Given the description of an element on the screen output the (x, y) to click on. 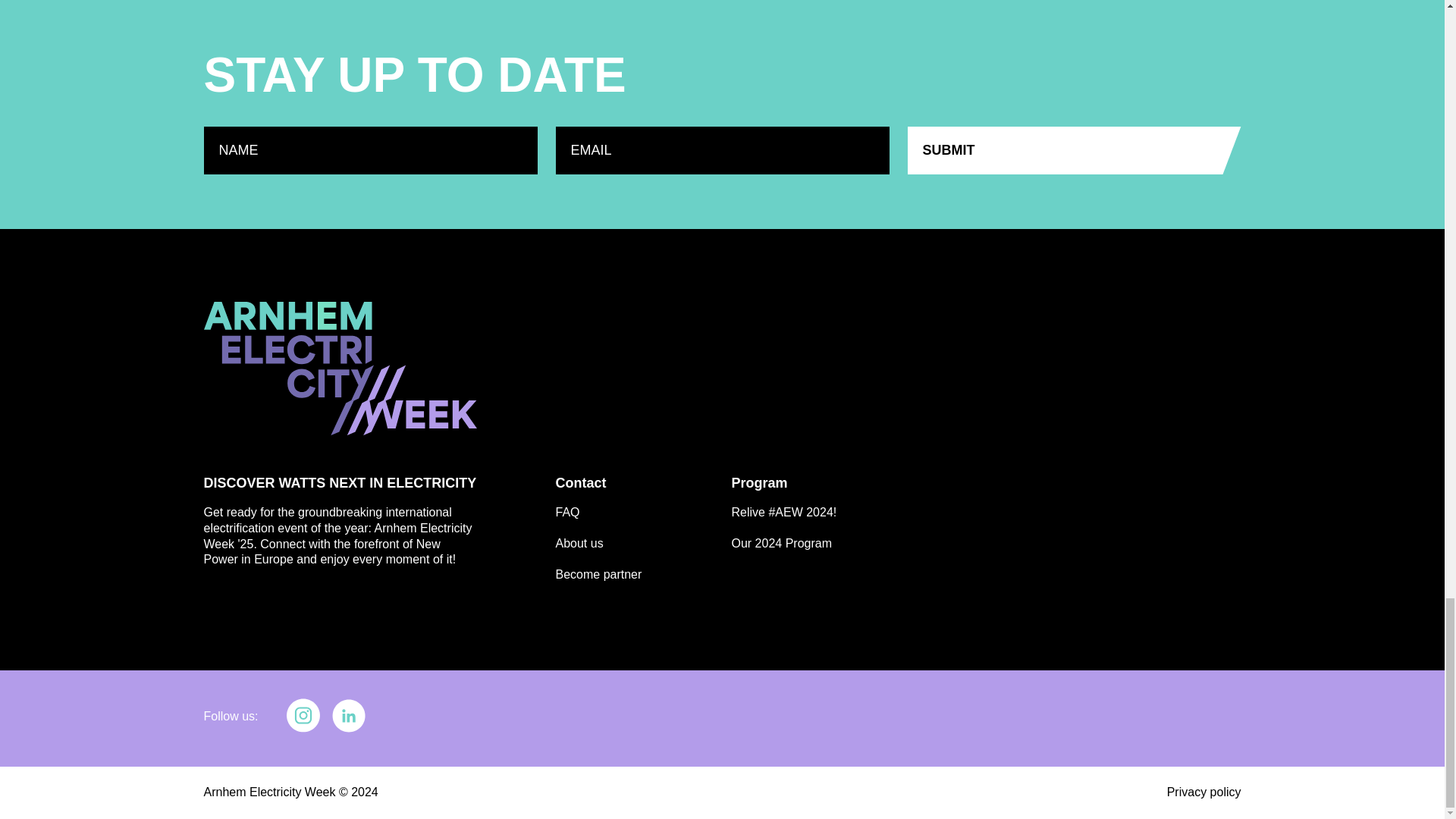
Submit (1073, 150)
Submit (1073, 150)
Privacy policy (1204, 791)
Our 2024 Program (780, 543)
Become partner (598, 574)
About us (578, 543)
FAQ (566, 512)
